Given the description of an element on the screen output the (x, y) to click on. 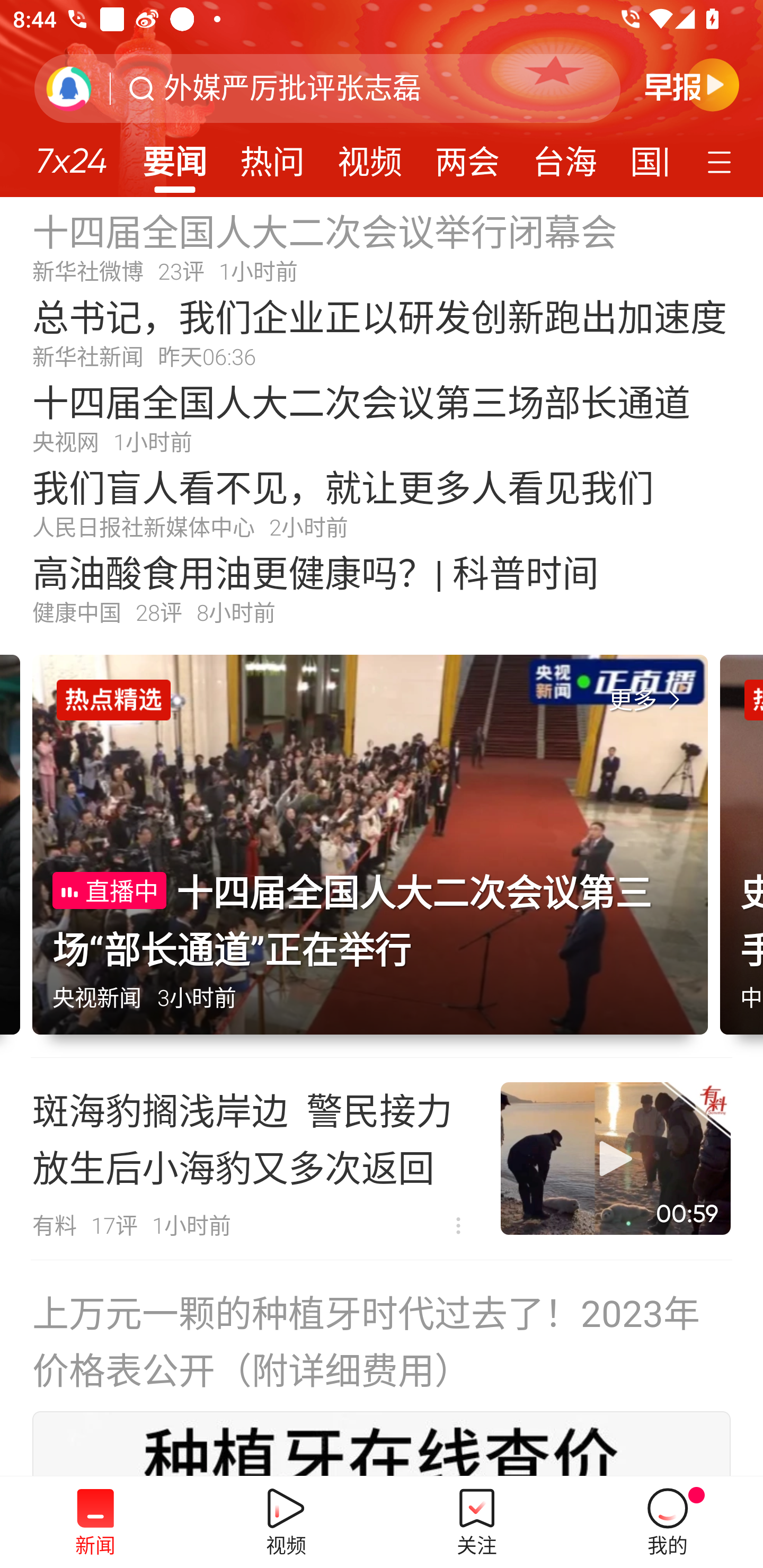
腾讯新闻 (381, 98)
早晚报 (691, 84)
刷新 (68, 88)
外媒严厉批评张志磊 (292, 88)
7x24 (70, 154)
要闻 (174, 155)
热问 (272, 155)
视频 (369, 155)
两会 (466, 155)
台海 (564, 155)
 定制频道 (721, 160)
十四届全国人大二次会议举行闭幕会 新华社微博 23评 1小时前 (381, 245)
总书记，我们企业正以研发创新跑出加速度 新华社新闻 昨天06:36 (381, 331)
十四届全国人大二次会议第三场部长通道 央视网 1小时前 (381, 416)
我们盲人看不见，就让更多人看见我们 人民日报社新媒体中心 2小时前 (381, 502)
高油酸食用油更健康吗？| 科普时间 健康中国 28评 8小时前 (381, 587)
更多   十四届全国人大二次会议第三场“部长通道”正在举行 直播中 央视新闻   3小时前 (376, 855)
更多  (648, 699)
斑海豹搁浅岸边  警民接力放生后小海豹又多次返回 有料 17评 1小时前  不感兴趣 00:59 (381, 1158)
 不感兴趣 (458, 1226)
上万元一颗的种植牙时代过去了！2023年价格表公开（附详细费用） (381, 1339)
